Given the description of an element on the screen output the (x, y) to click on. 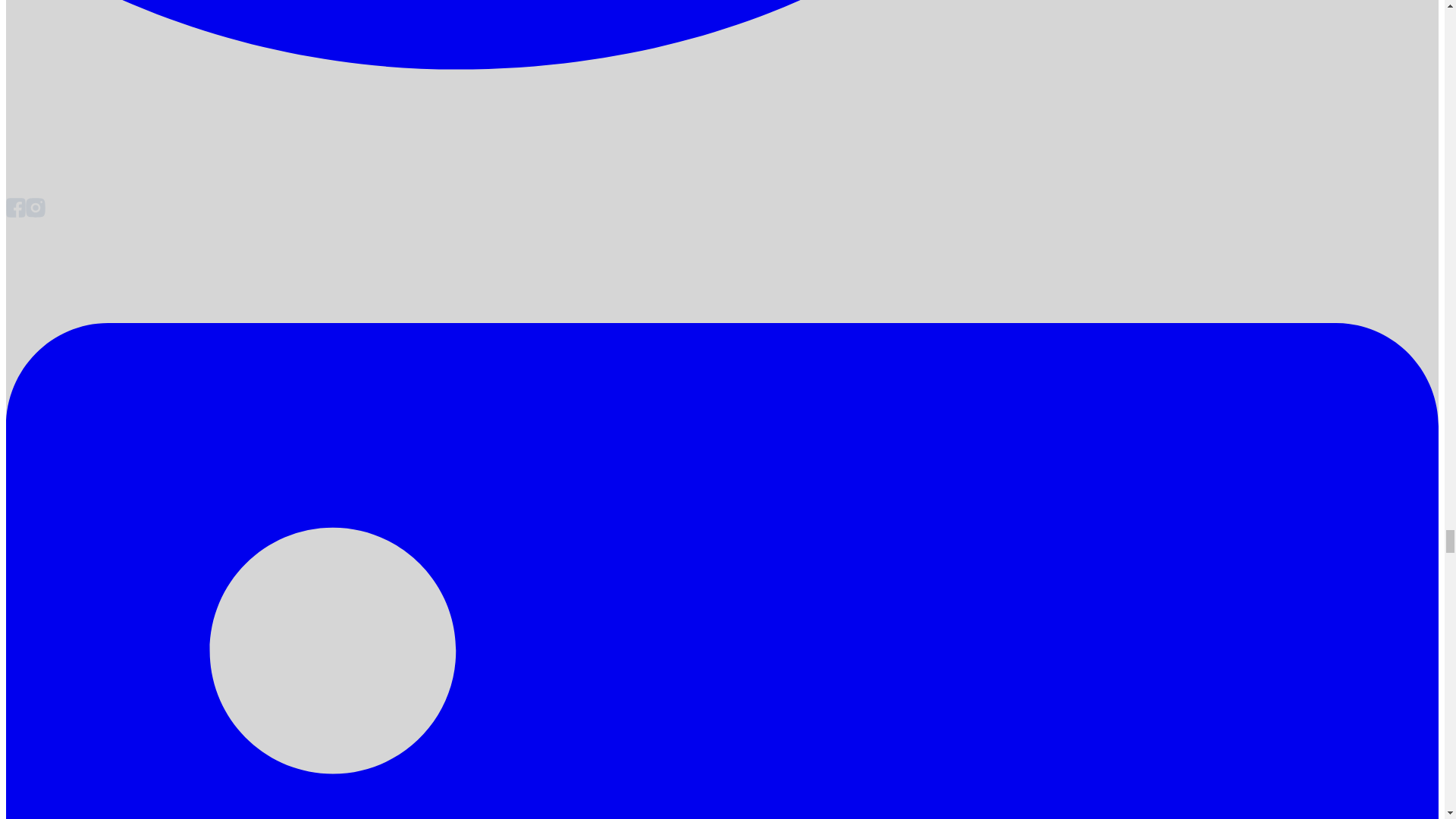
Uniqode on Instagram (35, 213)
Uniqode on Facebook (15, 213)
